Given the description of an element on the screen output the (x, y) to click on. 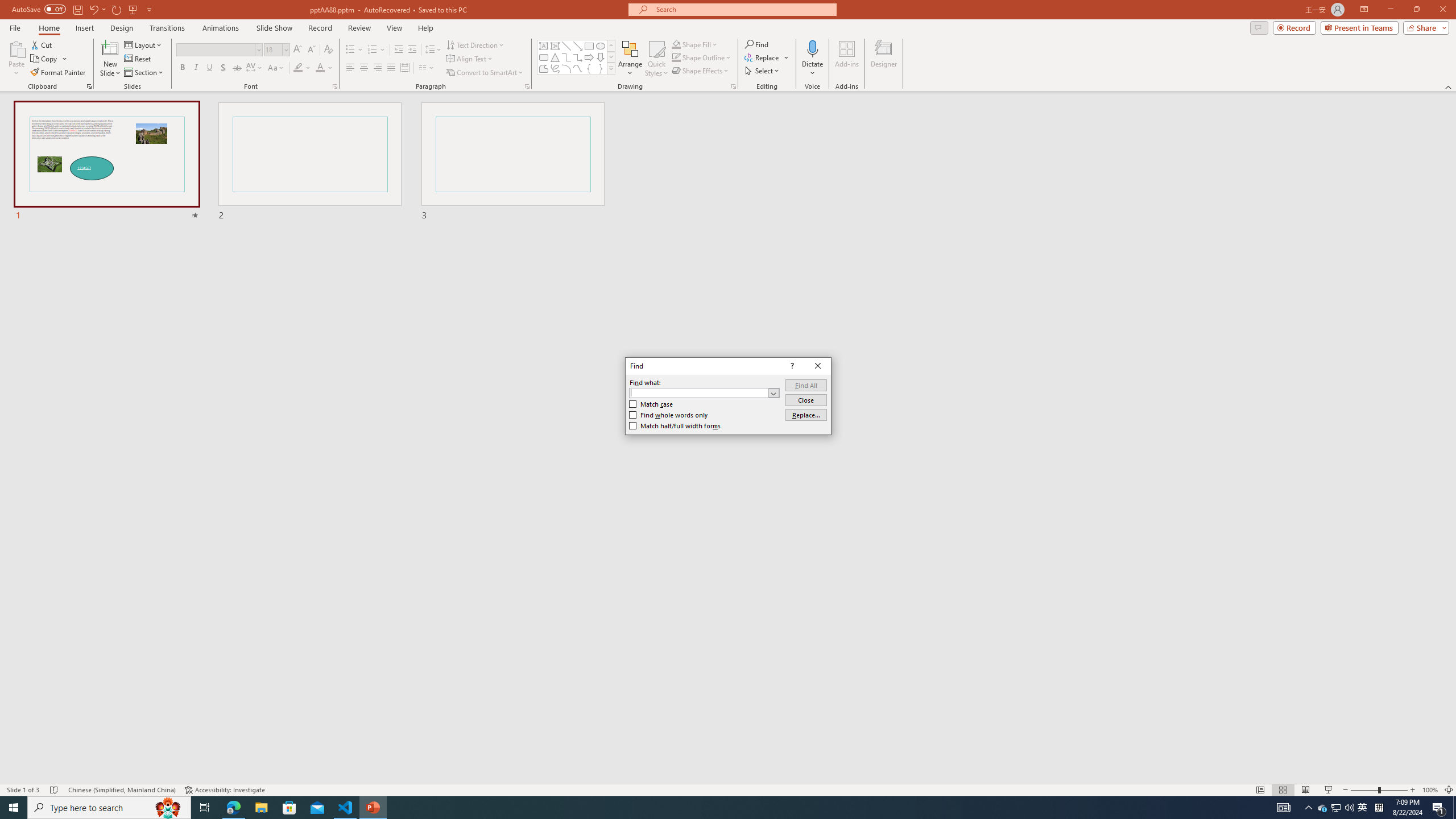
Match half/full width forms (675, 425)
